Given the description of an element on the screen output the (x, y) to click on. 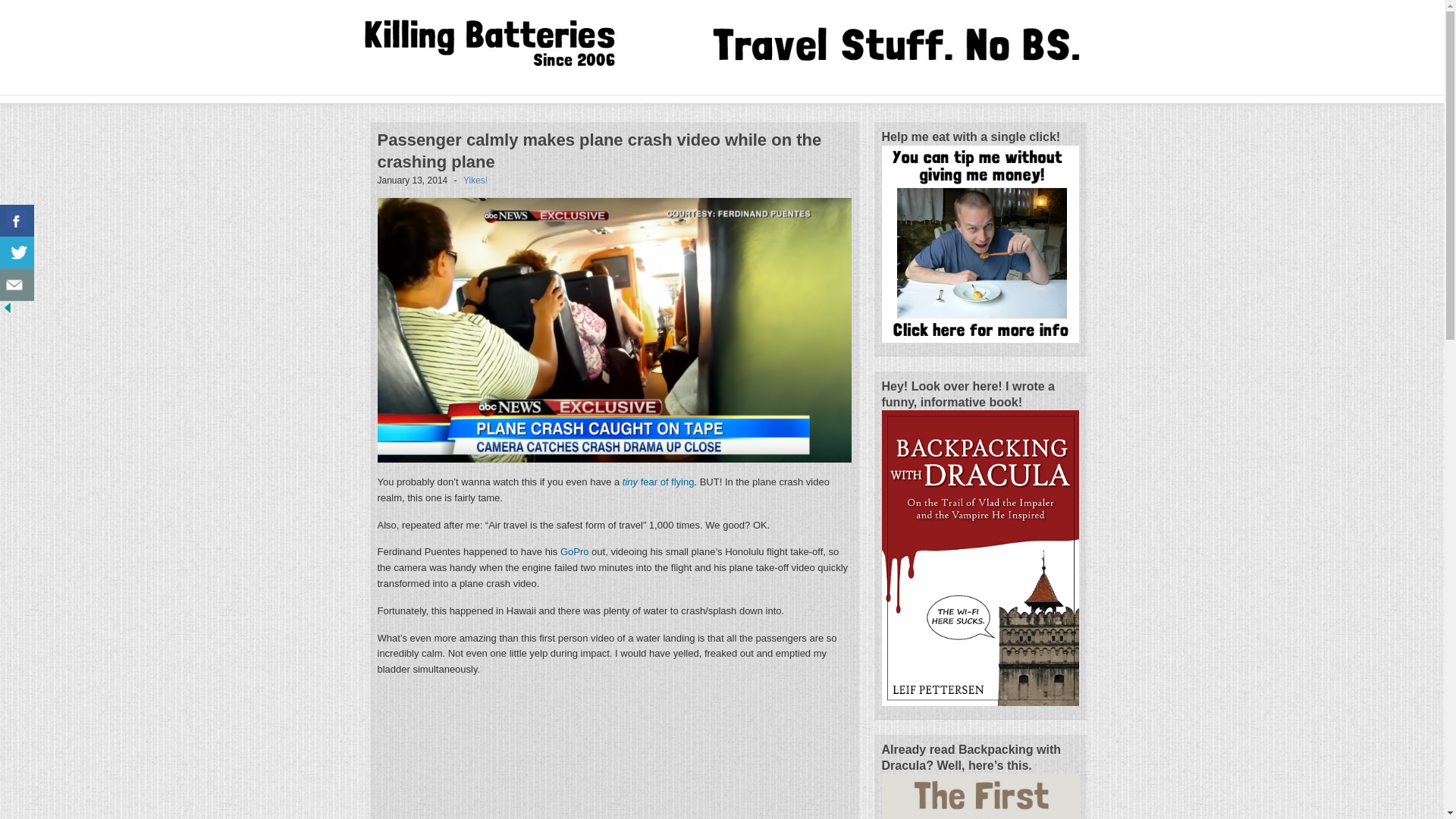
Contact us (16, 284)
plane crash video from Hawaii (614, 330)
Share On Twitter (16, 252)
tiny fear of flying (658, 481)
GoPro (574, 551)
Killing Batteries (509, 43)
Yikes! (475, 180)
Share On Facebook (16, 220)
